Given the description of an element on the screen output the (x, y) to click on. 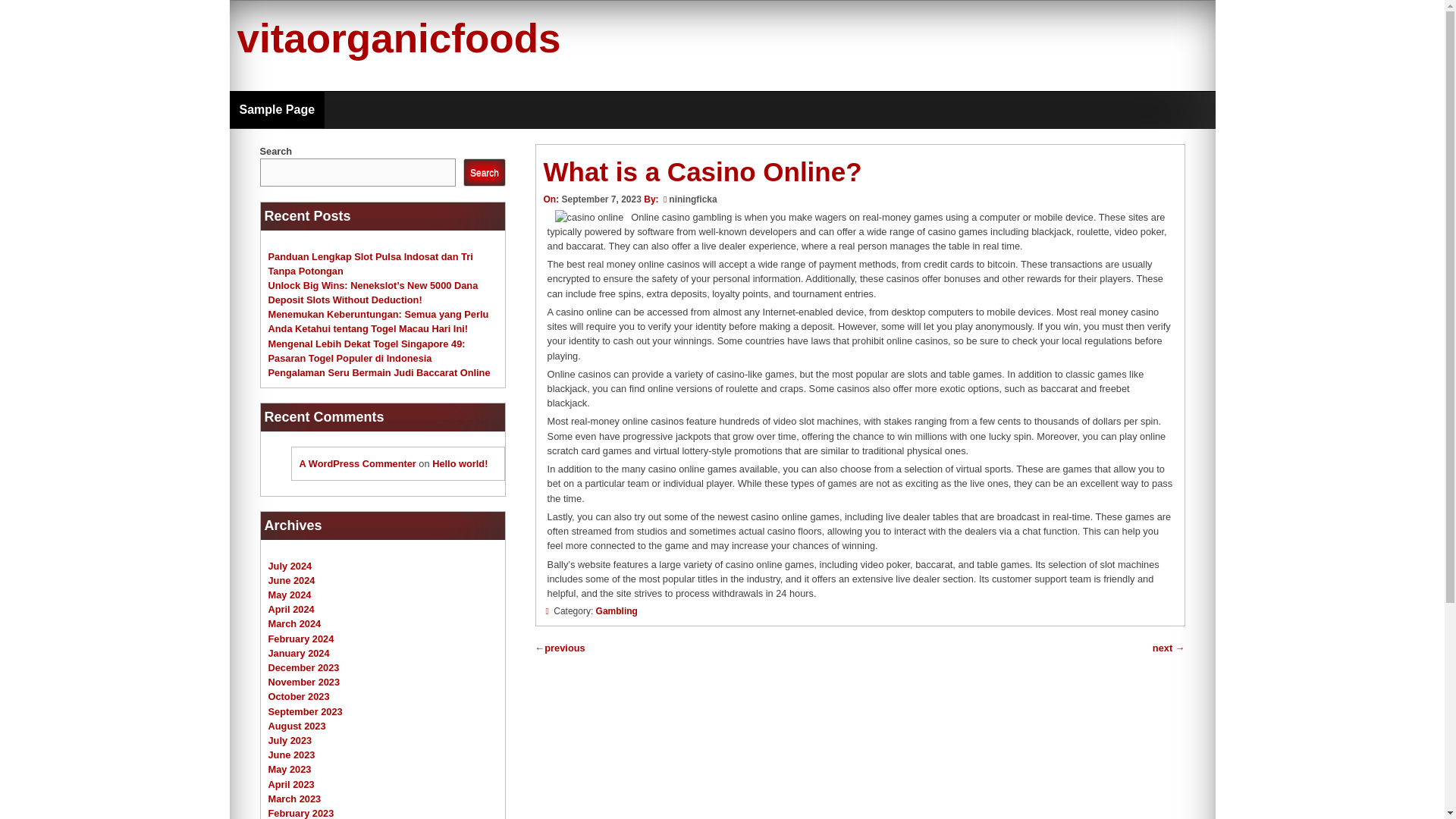
vitaorganicfoods (397, 37)
Gambling (616, 611)
Hello world! (459, 463)
June 2024 (291, 580)
April 2023 (290, 784)
Search (484, 172)
A WordPress Commenter (356, 463)
April 2024 (290, 609)
October 2023 (298, 696)
January 2024 (298, 653)
February 2024 (300, 638)
Panduan Lengkap Slot Pulsa Indosat dan Tri Tanpa Potongan (370, 263)
Sample Page (276, 109)
July 2024 (290, 565)
